Given the description of an element on the screen output the (x, y) to click on. 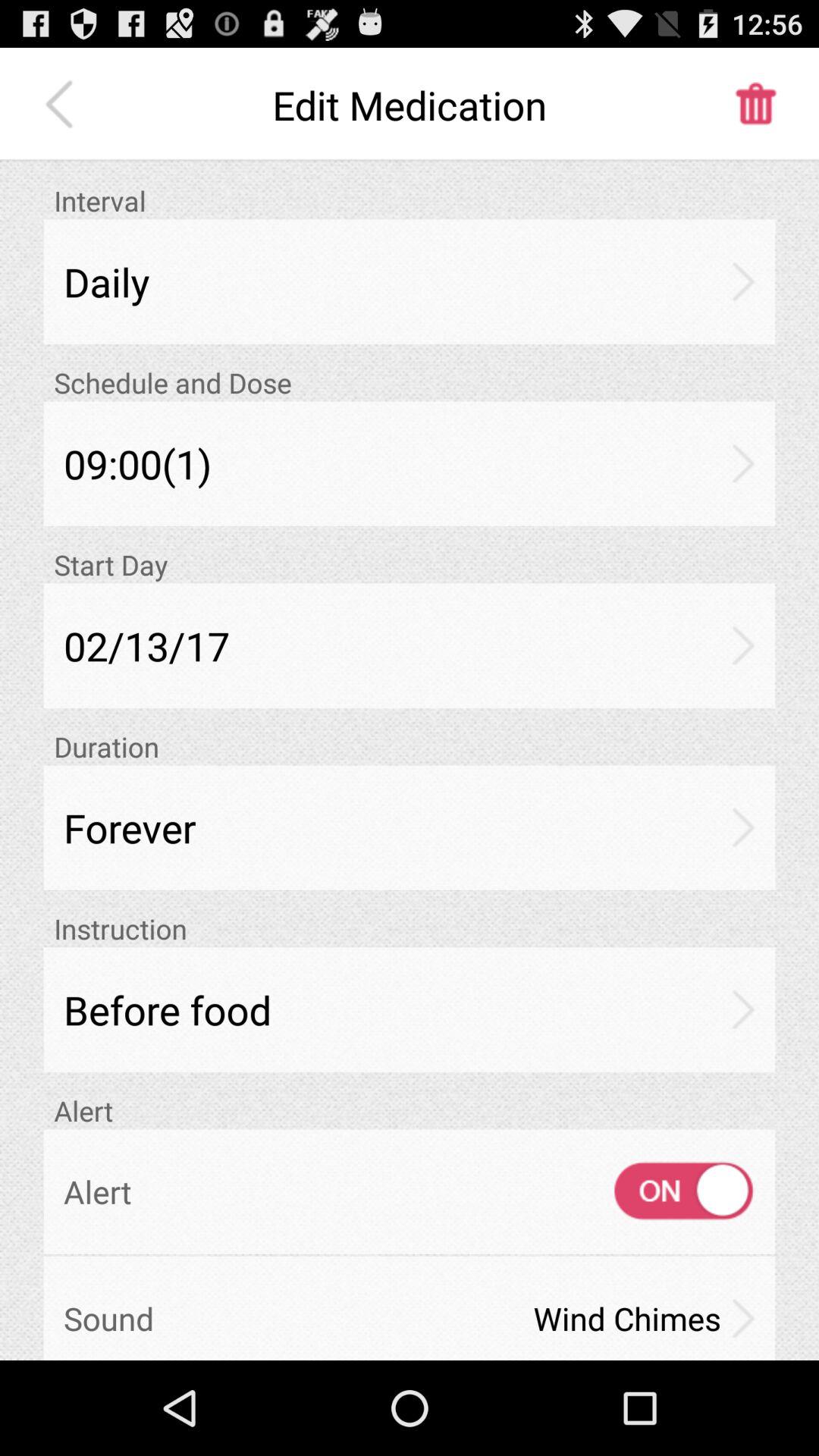
swipe to 02/13/17 app (409, 645)
